Given the description of an element on the screen output the (x, y) to click on. 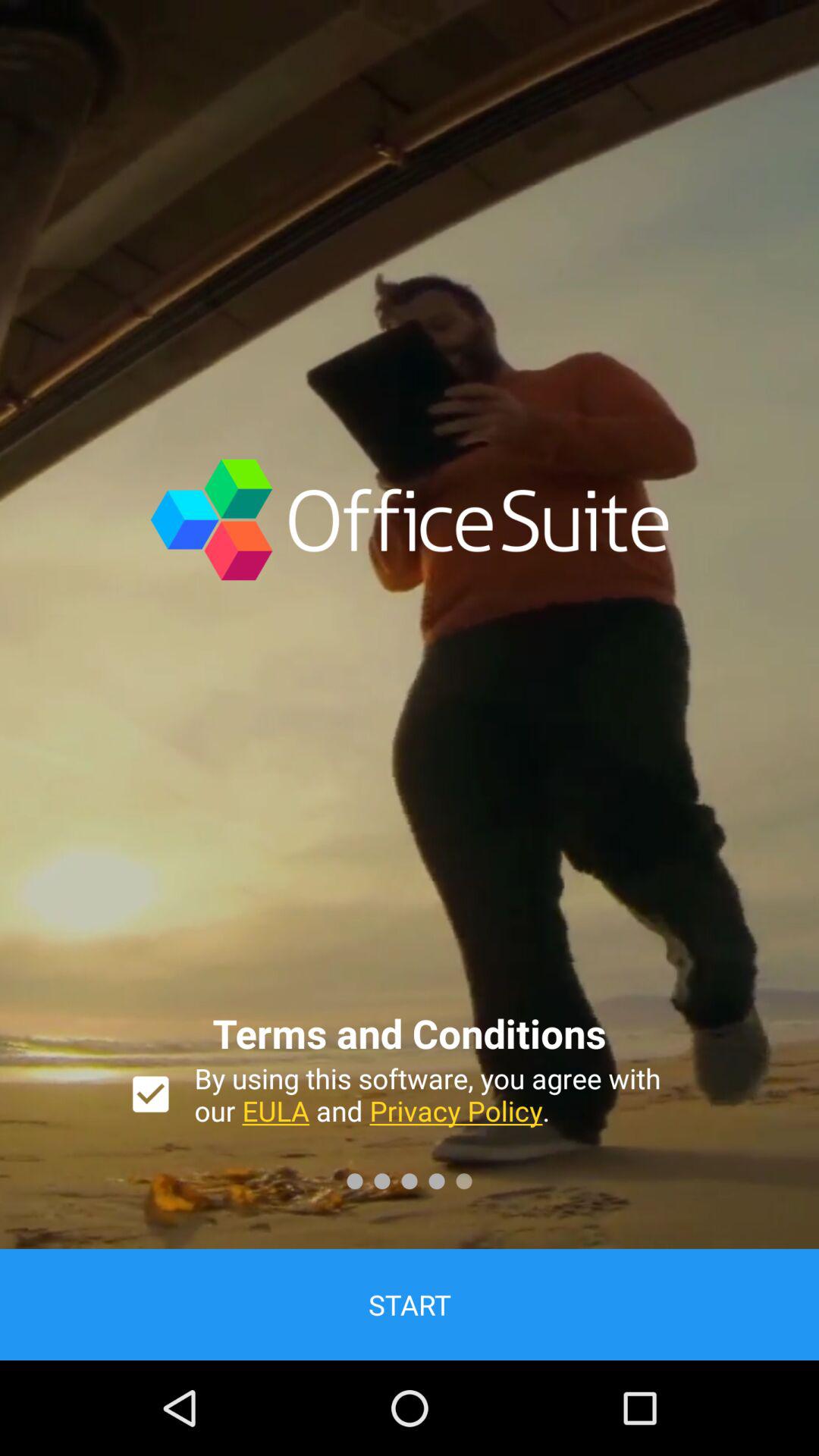
toggle agree (150, 1093)
